Given the description of an element on the screen output the (x, y) to click on. 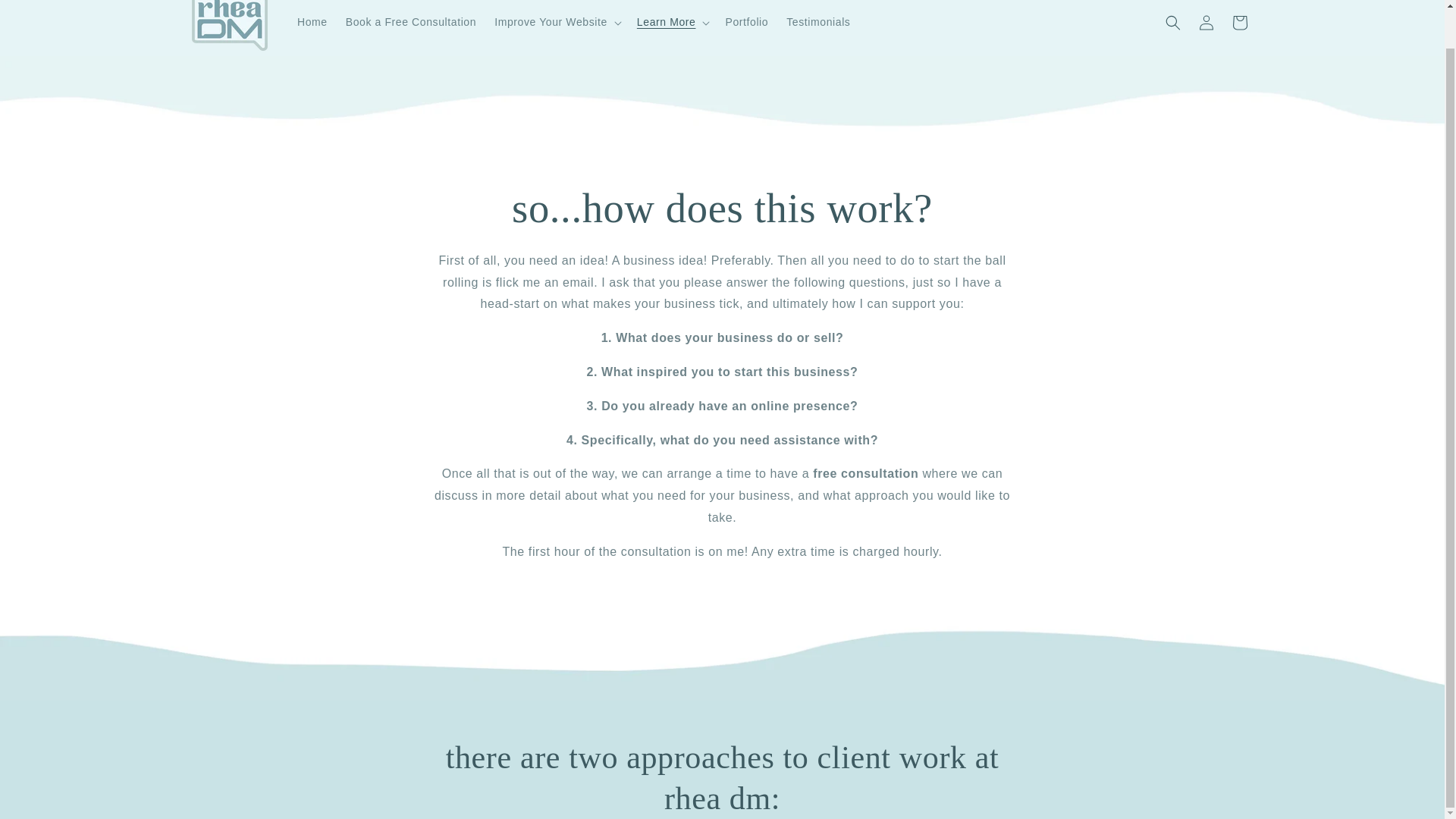
Cart (1239, 21)
Log in (1206, 21)
Home (312, 21)
Portfolio (746, 21)
Book a Free Consultation (410, 21)
Testimonials (818, 21)
